Given the description of an element on the screen output the (x, y) to click on. 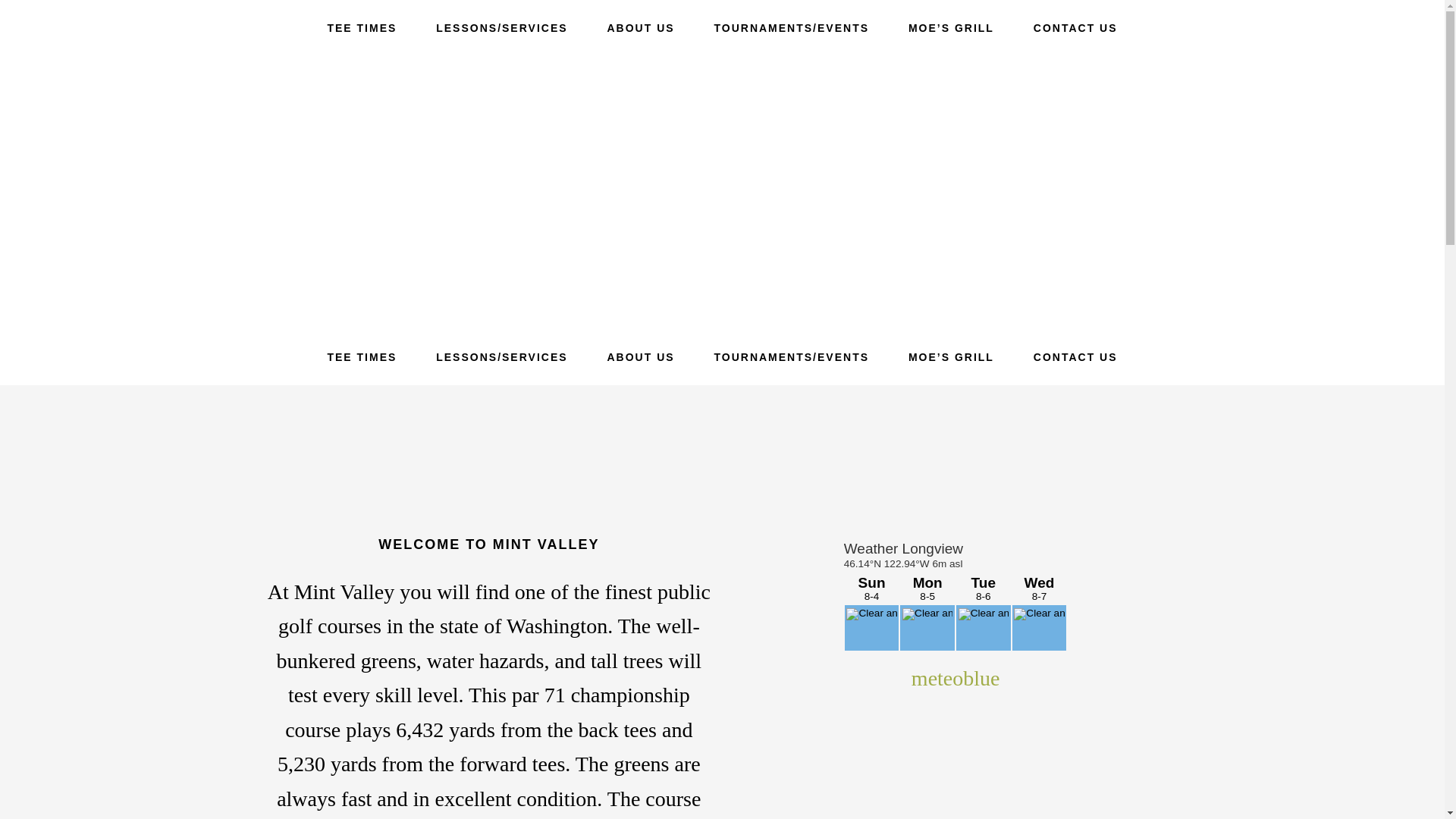
TEE TIMES (361, 28)
TEE TIMES (361, 356)
MINT VALLEY GOLF COURSE (722, 192)
CONTACT US (1074, 28)
ABOUT US (640, 28)
